Given the description of an element on the screen output the (x, y) to click on. 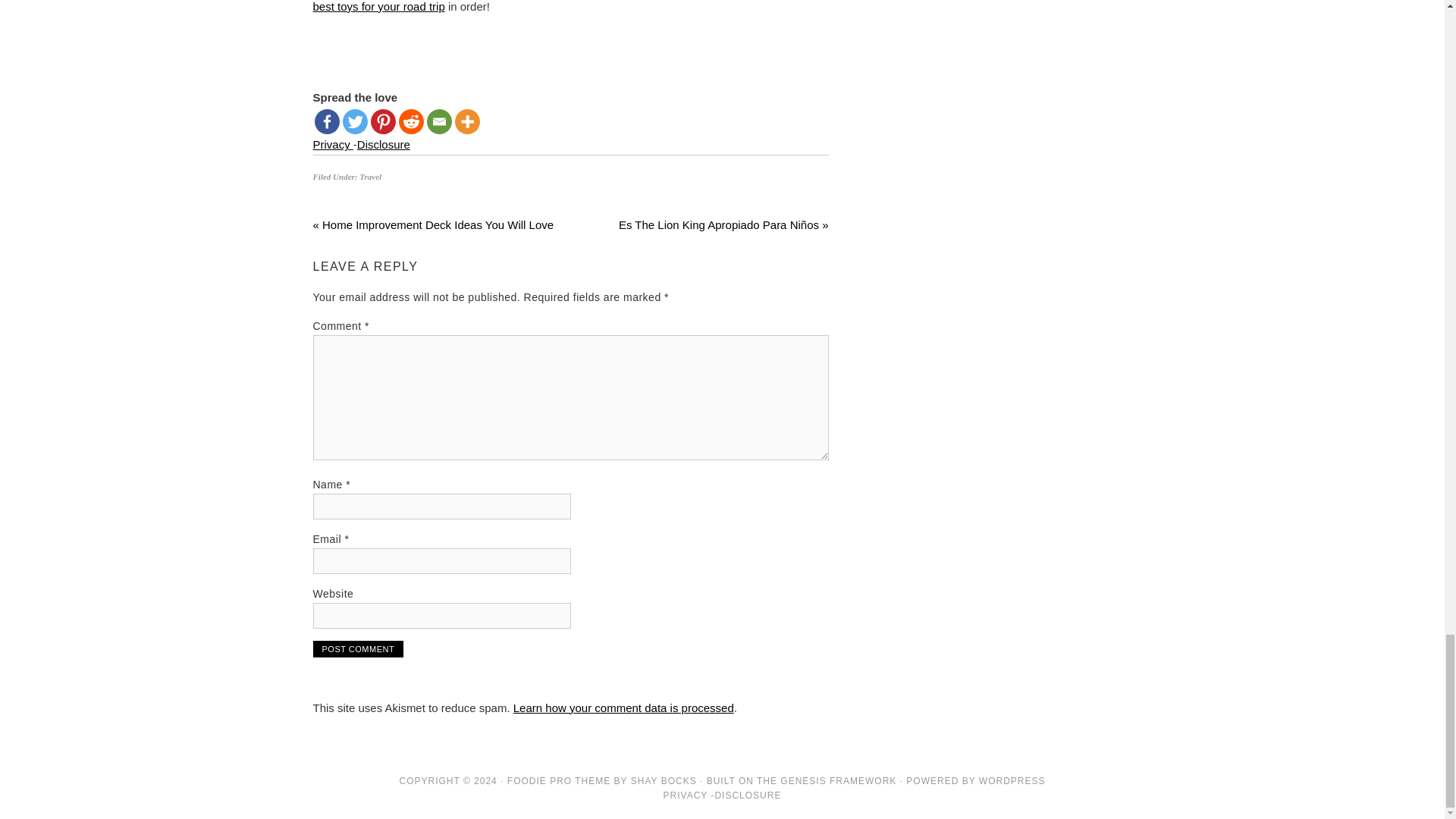
More (467, 121)
Reddit (410, 121)
Pinterest (381, 121)
Facebook (326, 121)
Post Comment (358, 648)
Email (438, 121)
Twitter (355, 121)
